Given the description of an element on the screen output the (x, y) to click on. 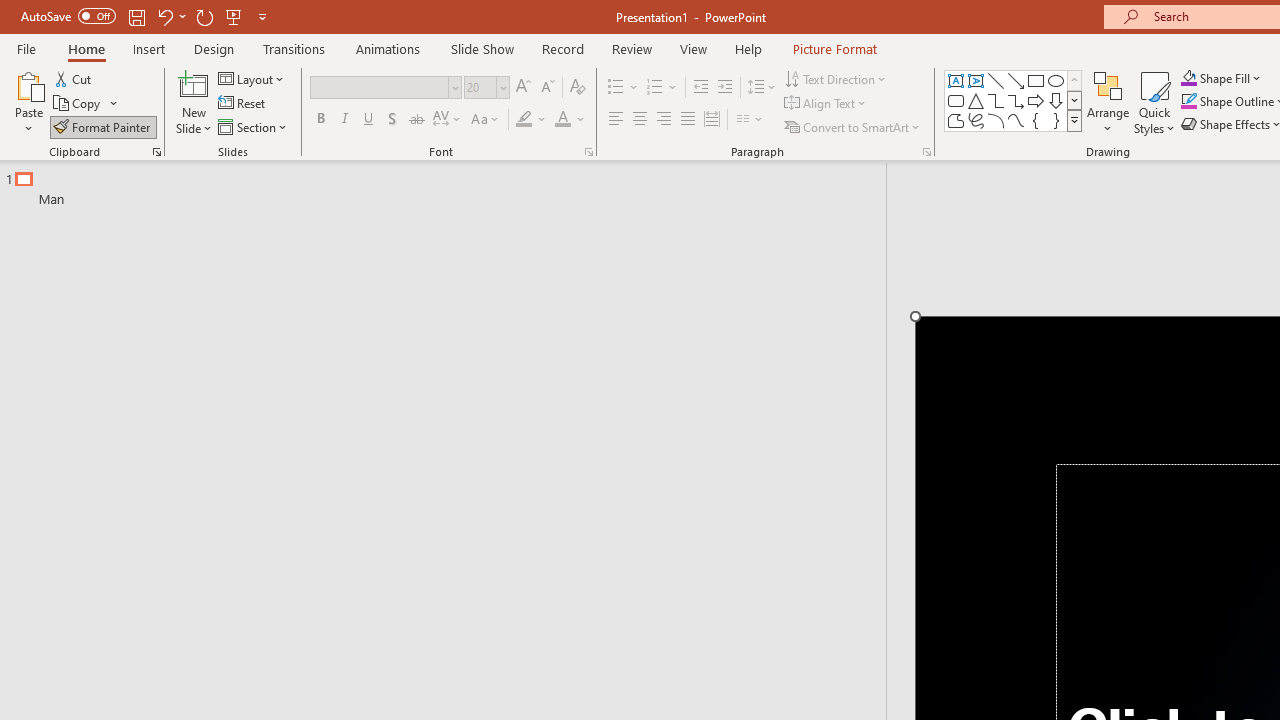
Shadow (392, 119)
Font Size (486, 87)
Bullets (623, 87)
Arrange (1108, 102)
Font Color Red (562, 119)
Change Case (486, 119)
Font (379, 87)
Rectangle (1035, 80)
Outline (452, 184)
Italic (344, 119)
Vertical Text Box (975, 80)
Text Highlight Color Yellow (524, 119)
